Given the description of an element on the screen output the (x, y) to click on. 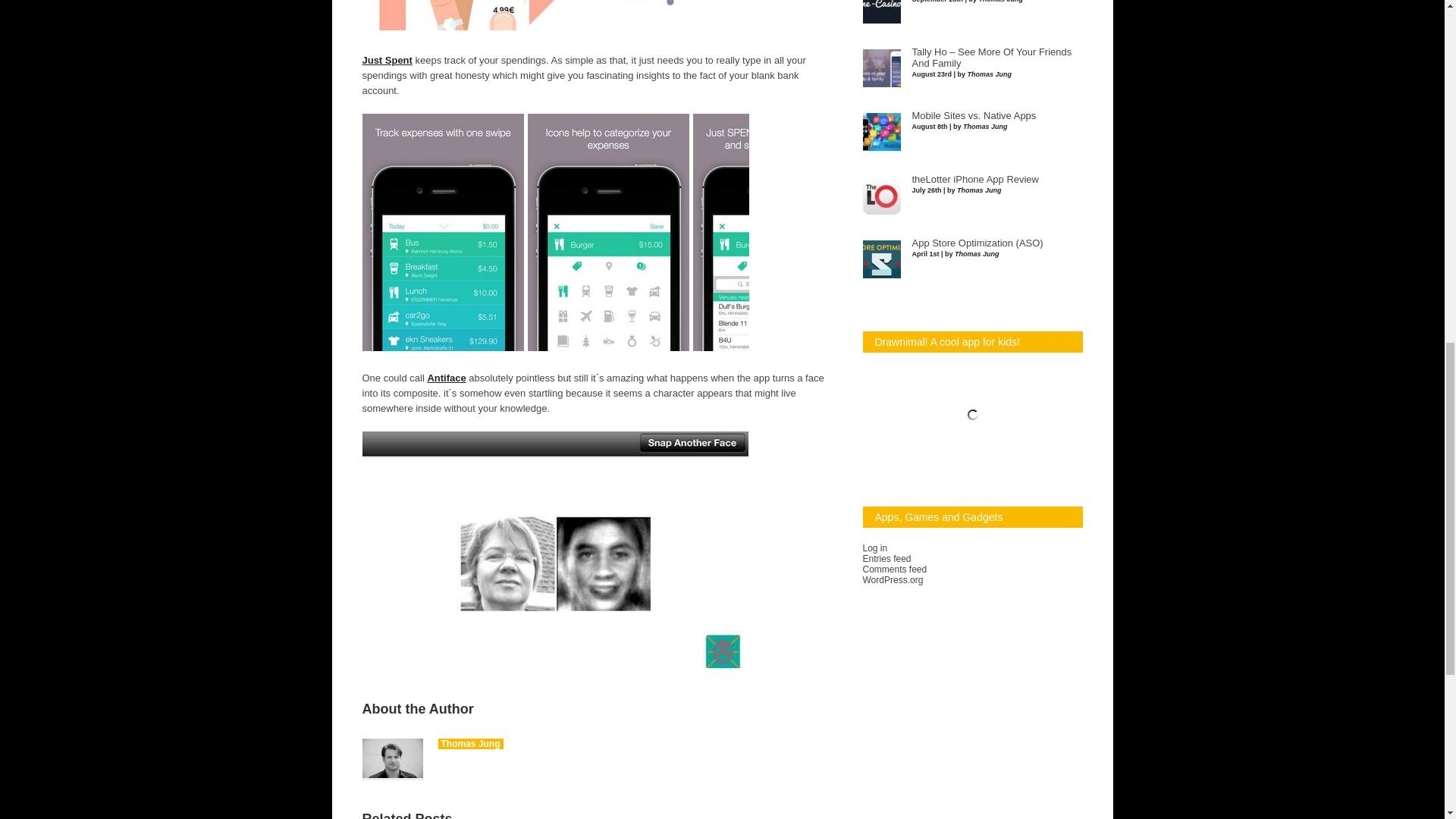
Posts by Thomas Jung (470, 743)
theLotter iPhone App Review (974, 179)
Mobile Sites vs. Native Apps (973, 115)
Thomas Jung (470, 743)
Just Spent (387, 60)
Antiface (445, 378)
